Given the description of an element on the screen output the (x, y) to click on. 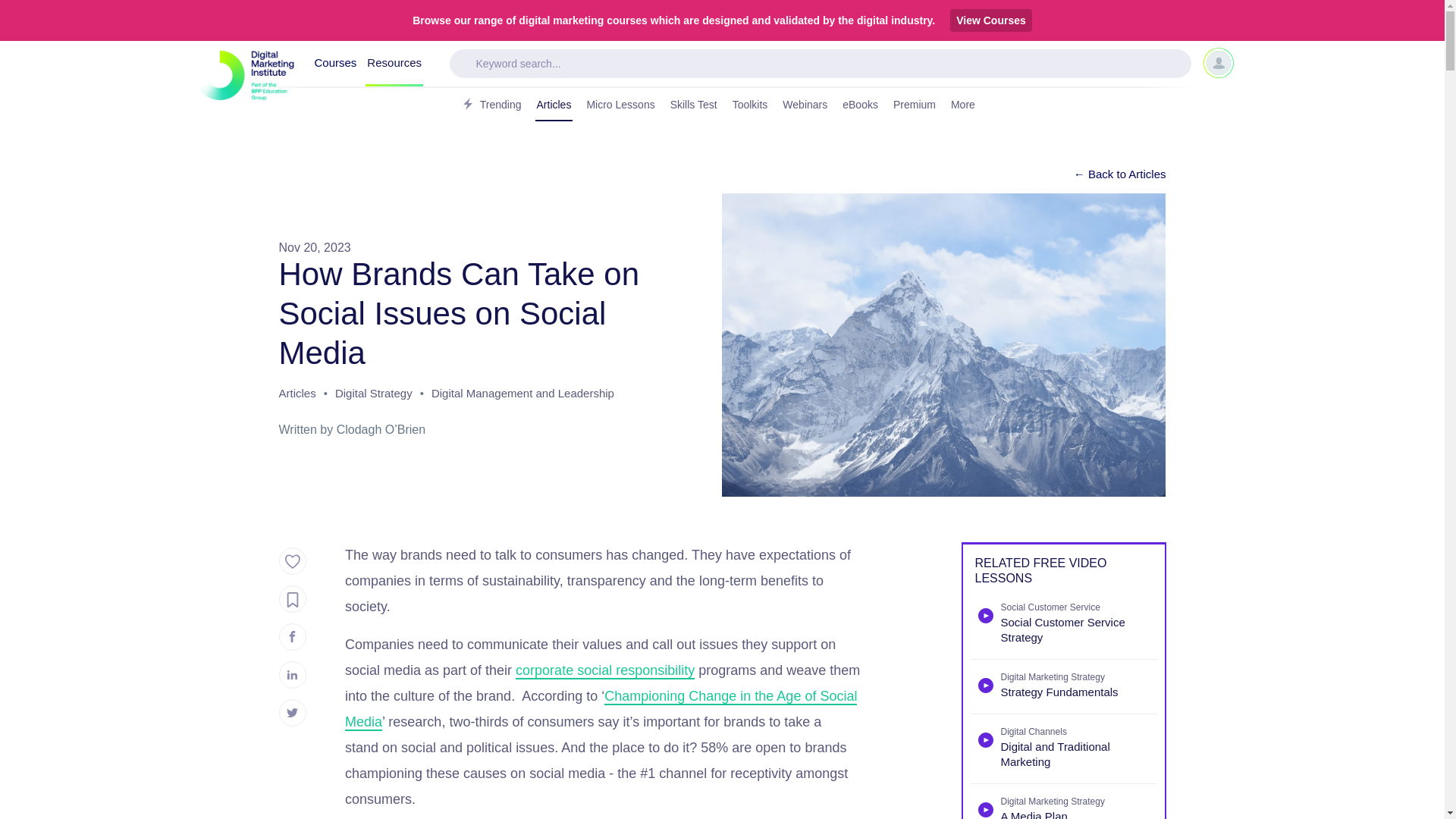
Webinars (804, 104)
Micro Lessons (620, 104)
Digital Strategy (373, 395)
Articles (297, 395)
Articles (554, 104)
Skills Test (693, 104)
Courses (335, 62)
View Courses (991, 20)
Resources (394, 62)
corporate social responsibility (604, 670)
